Given the description of an element on the screen output the (x, y) to click on. 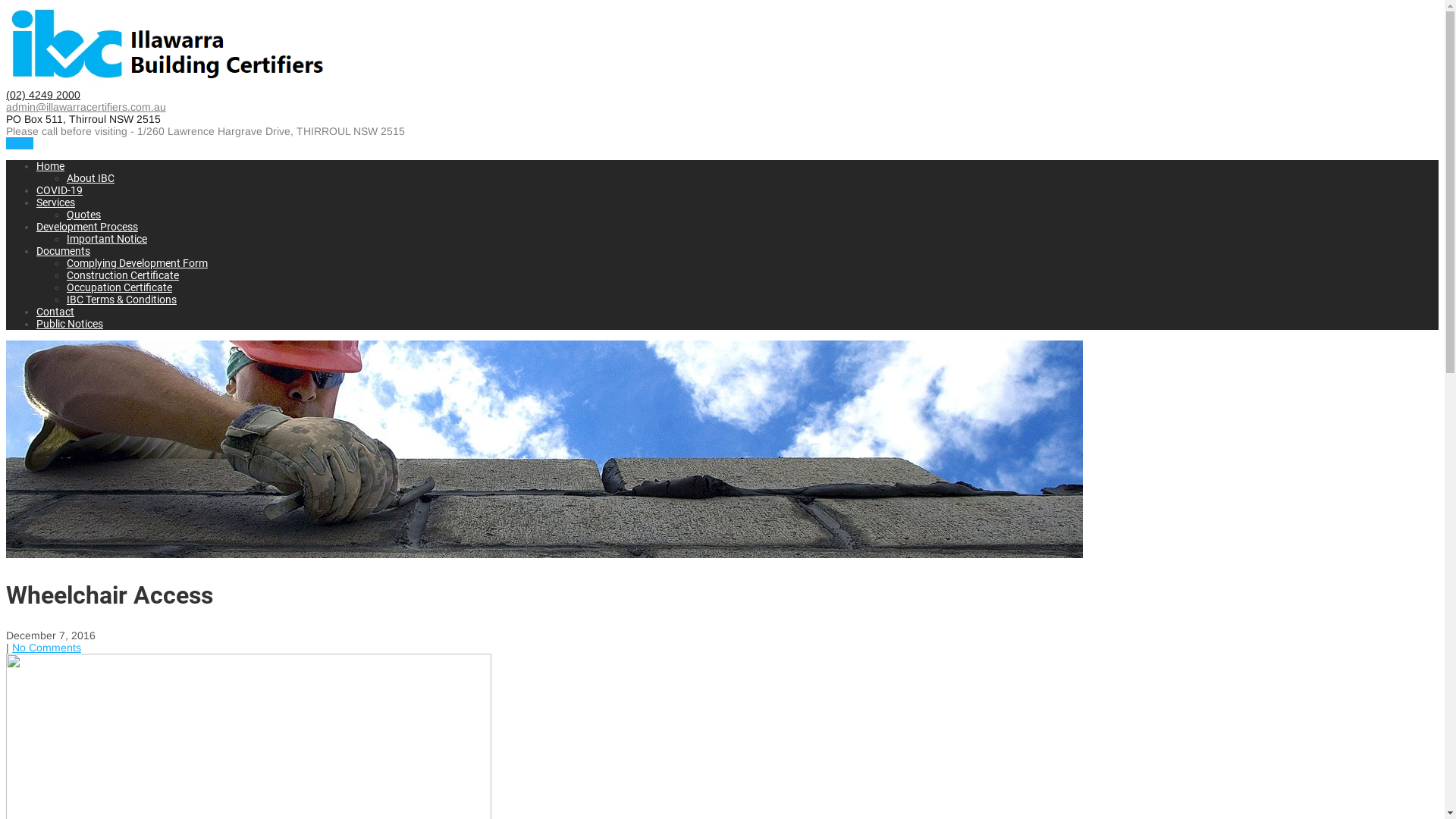
No Comments Element type: text (46, 647)
Development Process Element type: text (87, 226)
COVID-19 Element type: text (59, 190)
Services Element type: text (55, 202)
Menu Element type: text (19, 143)
Documents Element type: text (63, 250)
Construction Certificate Element type: text (122, 275)
Complying Development Form Element type: text (136, 263)
Contact Element type: text (55, 311)
admin@illawarracertifiers.com.au Element type: text (86, 106)
Occupation Certificate Element type: text (119, 287)
Home Element type: text (50, 166)
(02) 4249 2000 Element type: text (43, 94)
About IBC Element type: text (90, 178)
Important Notice Element type: text (106, 238)
IBC Terms & Conditions Element type: text (121, 299)
Public Notices Element type: text (69, 323)
Quotes Element type: text (83, 214)
